Given the description of an element on the screen output the (x, y) to click on. 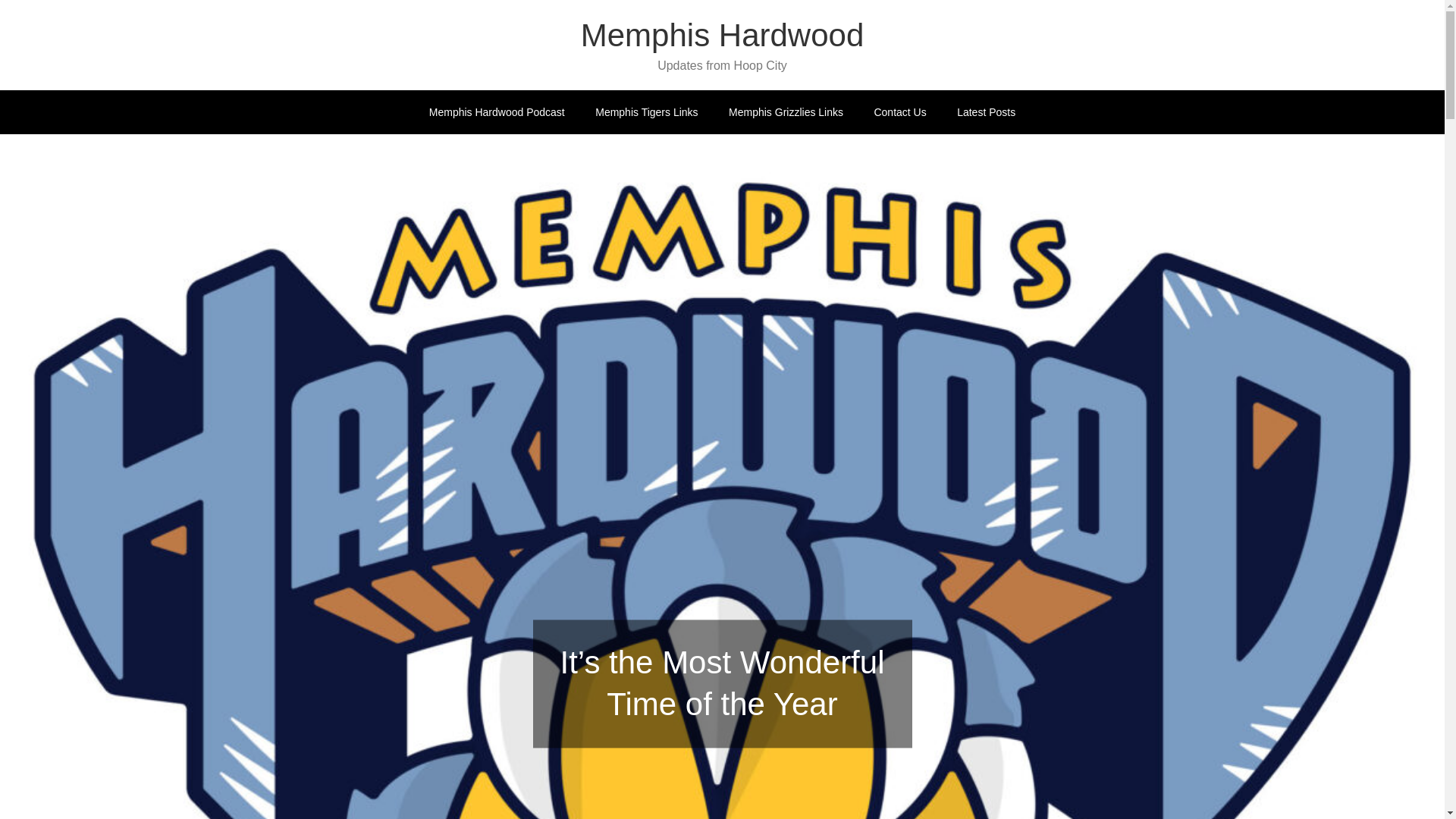
Memphis Grizzlies Links (785, 112)
Memphis Tigers Links (645, 112)
Contact Us (899, 112)
Memphis Hardwood (722, 35)
Latest Posts (986, 112)
Memphis Hardwood Podcast (496, 112)
